Given the description of an element on the screen output the (x, y) to click on. 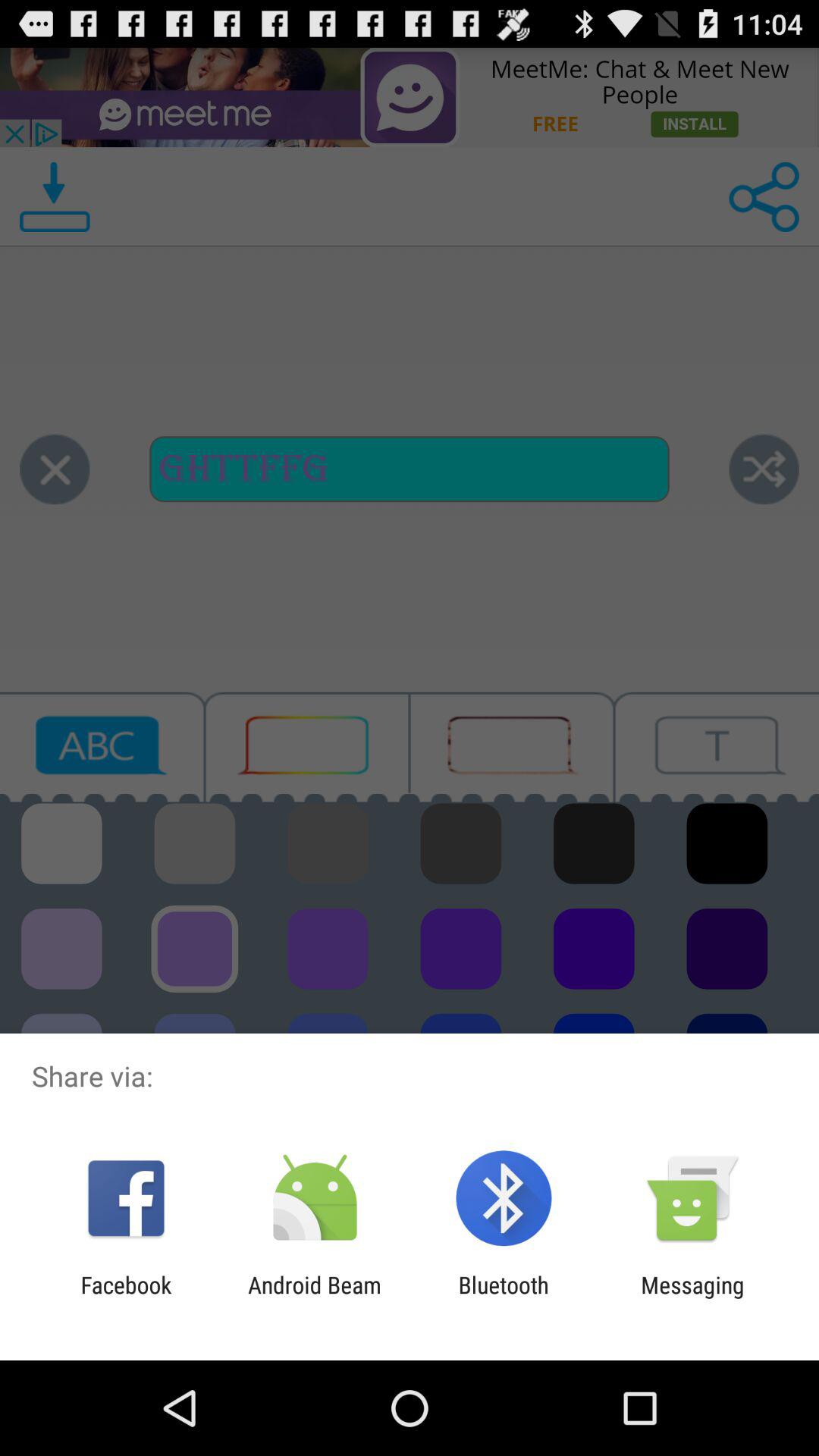
tap item to the left of messaging item (503, 1298)
